Given the description of an element on the screen output the (x, y) to click on. 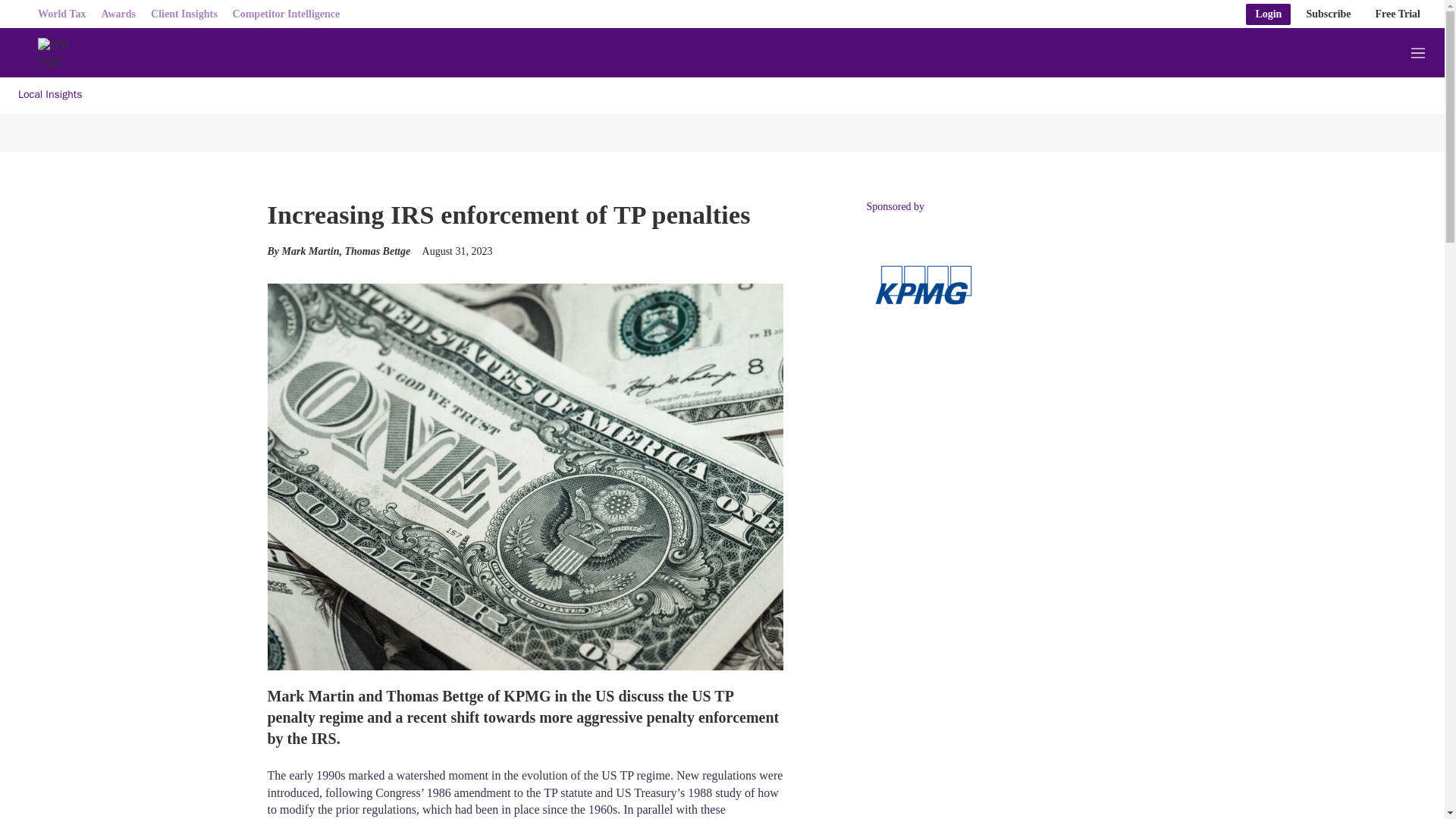
World Tax (61, 13)
Login (1268, 13)
Client Insights (183, 13)
Subscribe (1328, 13)
Competitor Intelligence (286, 13)
Free Trial (1398, 13)
Awards (117, 13)
